Given the description of an element on the screen output the (x, y) to click on. 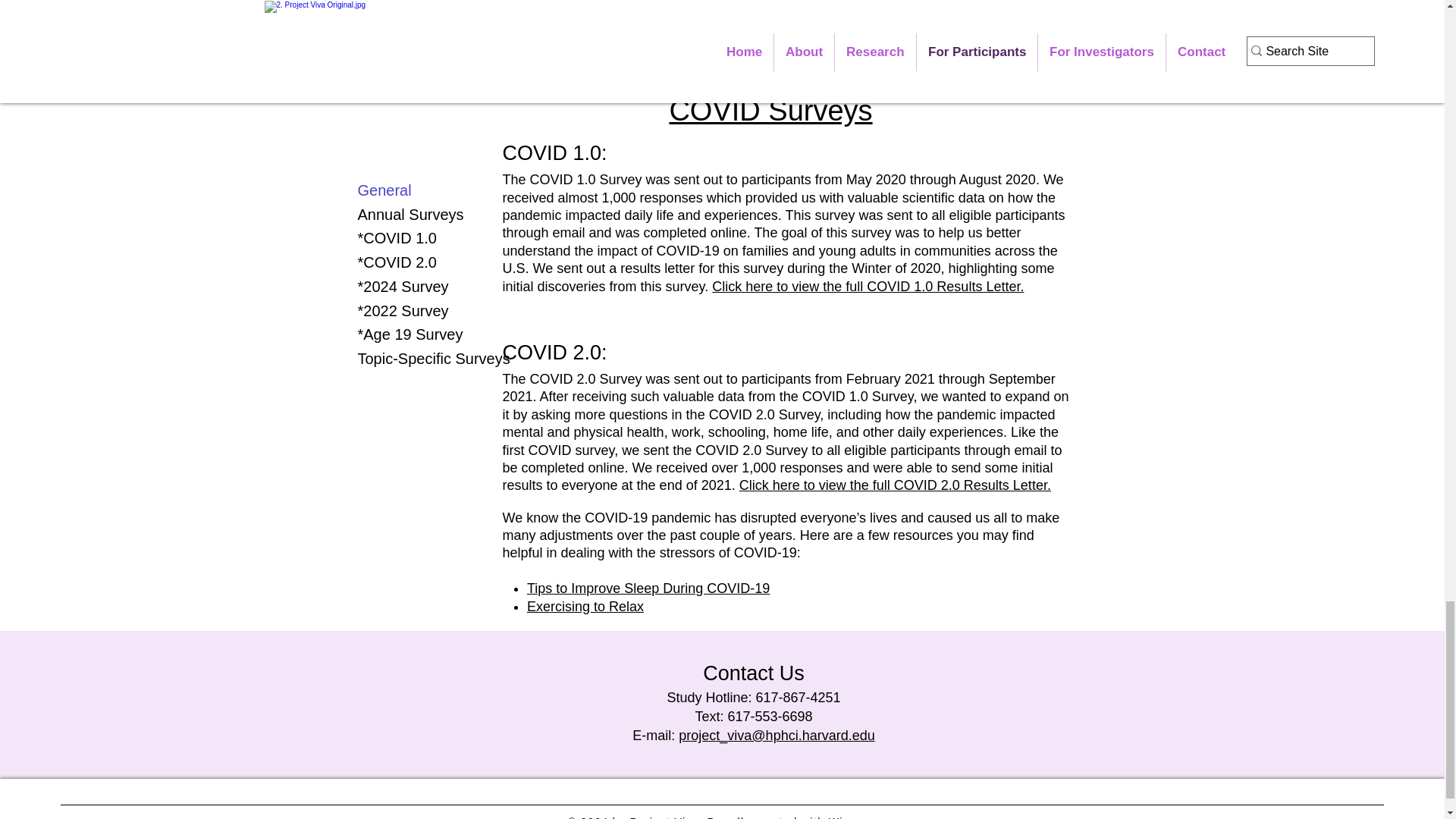
Click here to view the full COVID 2.0 Results Letter. (895, 485)
Click here to view the full COVID 1.0 Results Letter. (867, 286)
Tips to Improve Sleep During COVID-19 (648, 588)
